Given the description of an element on the screen output the (x, y) to click on. 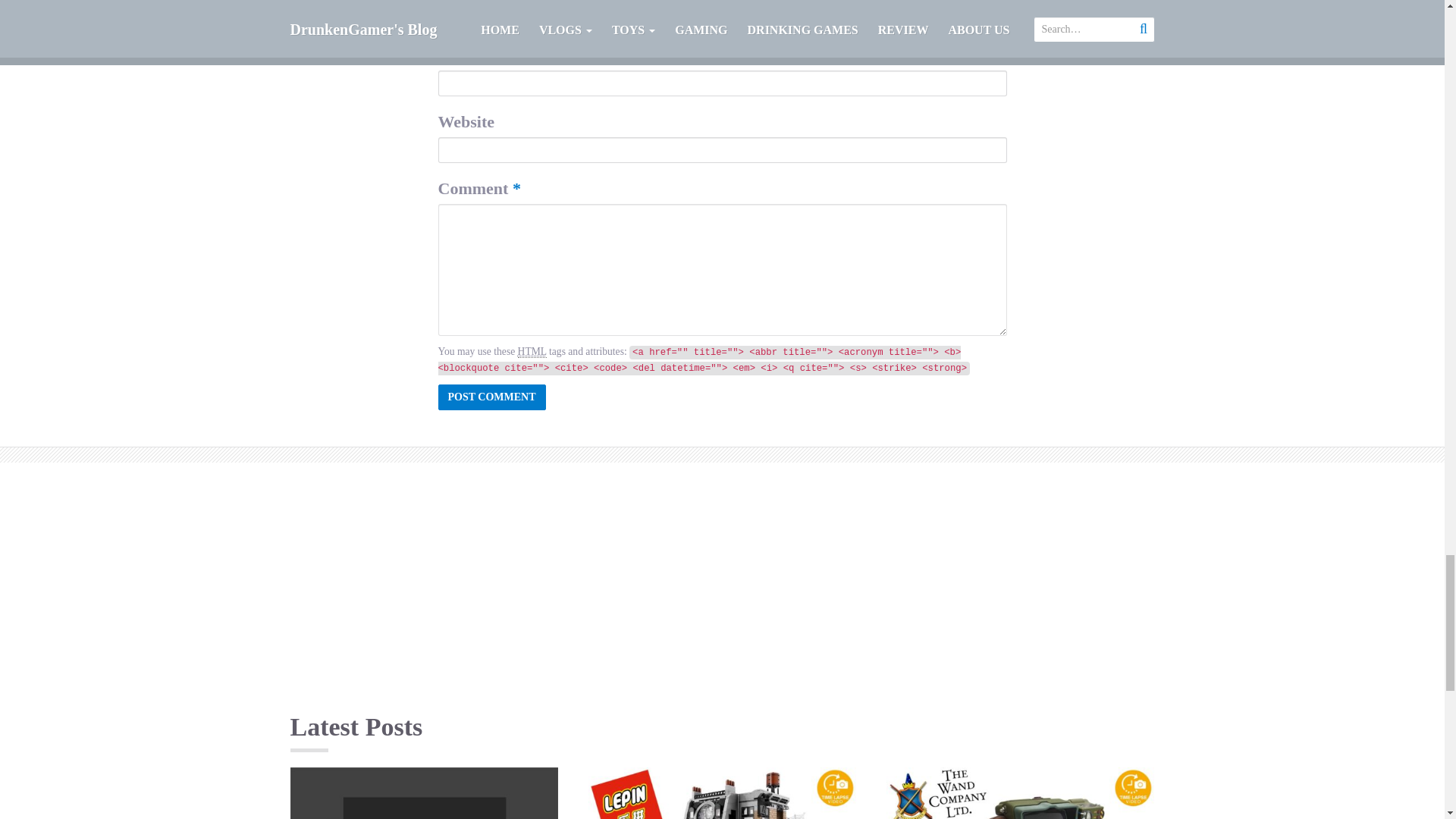
HyperText Markup Language (532, 351)
Post Comment (492, 397)
Post Comment (492, 397)
